Given the description of an element on the screen output the (x, y) to click on. 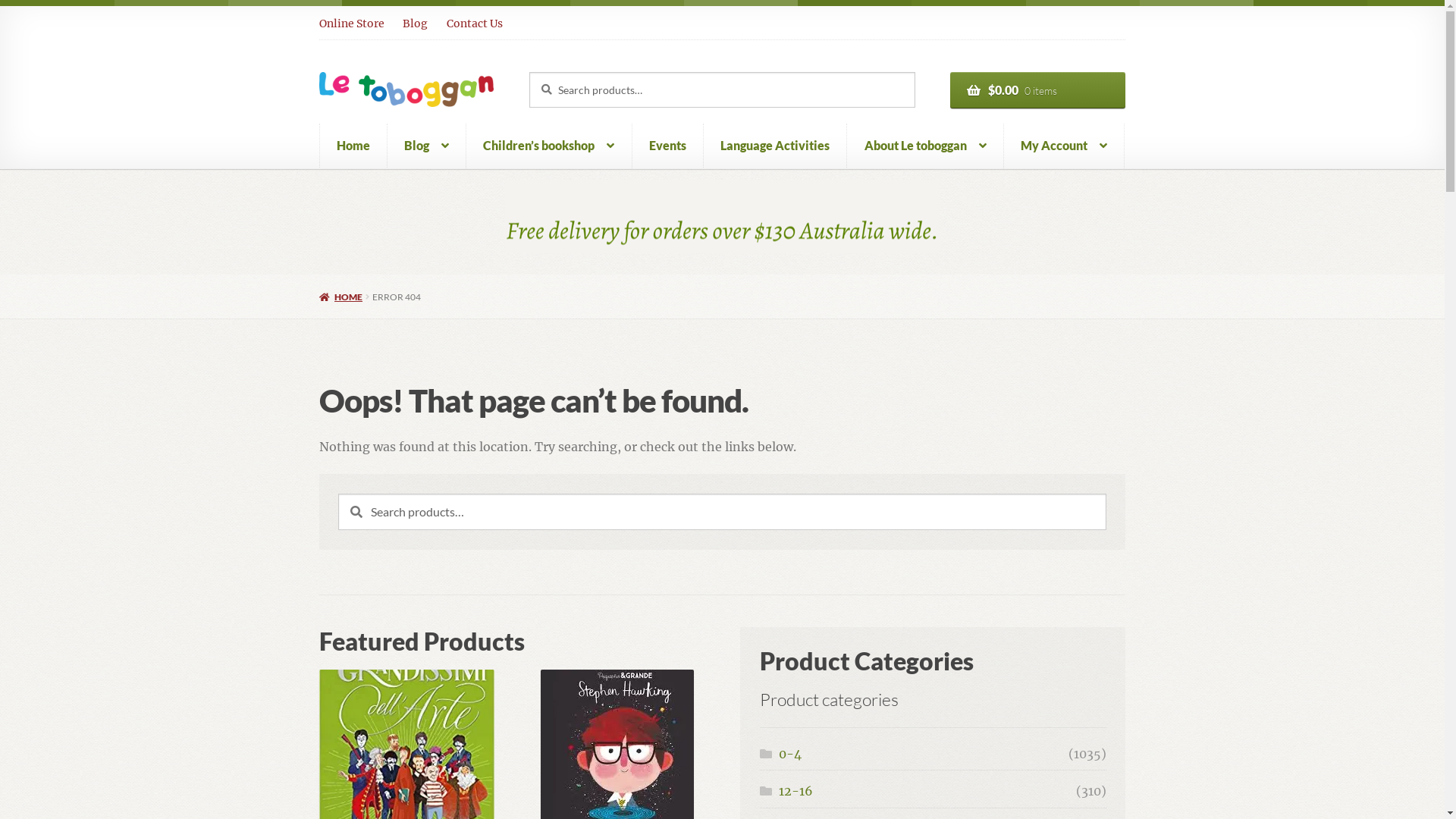
About Le toboggan Element type: text (925, 145)
Skip to navigation Element type: text (318, 6)
Online Store Element type: text (356, 23)
Search Element type: text (337, 492)
HOME Element type: text (340, 296)
Events Element type: text (667, 145)
My Account Element type: text (1064, 145)
Search Element type: text (528, 71)
Home Element type: text (353, 145)
Blog Element type: text (426, 145)
Language Activities Element type: text (775, 145)
0-4 Element type: text (789, 753)
12-16 Element type: text (795, 790)
Blog Element type: text (415, 23)
$0.00 0 items Element type: text (1037, 90)
Contact Us Element type: text (473, 23)
